Given the description of an element on the screen output the (x, y) to click on. 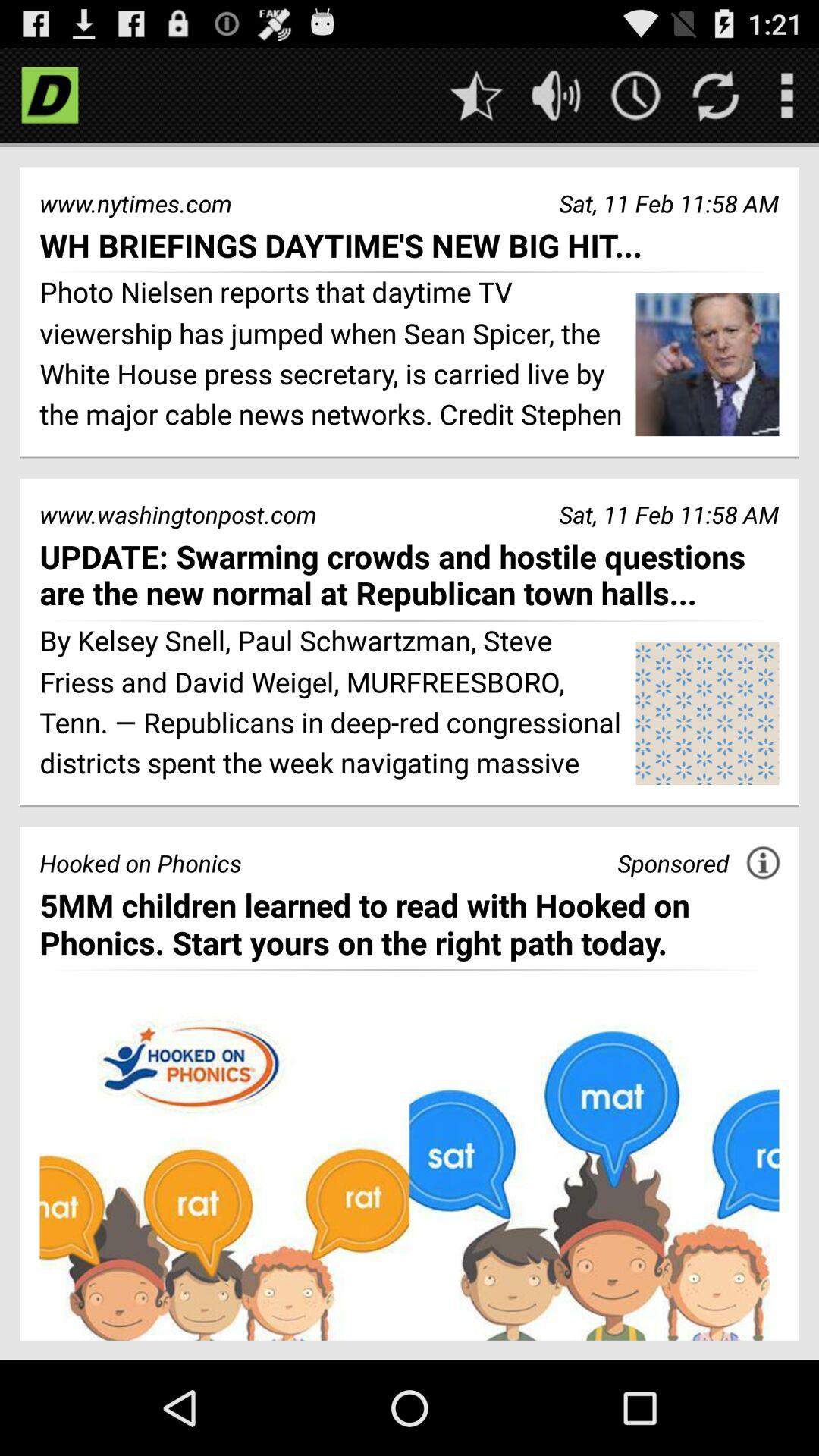
refresh page (715, 95)
